Given the description of an element on the screen output the (x, y) to click on. 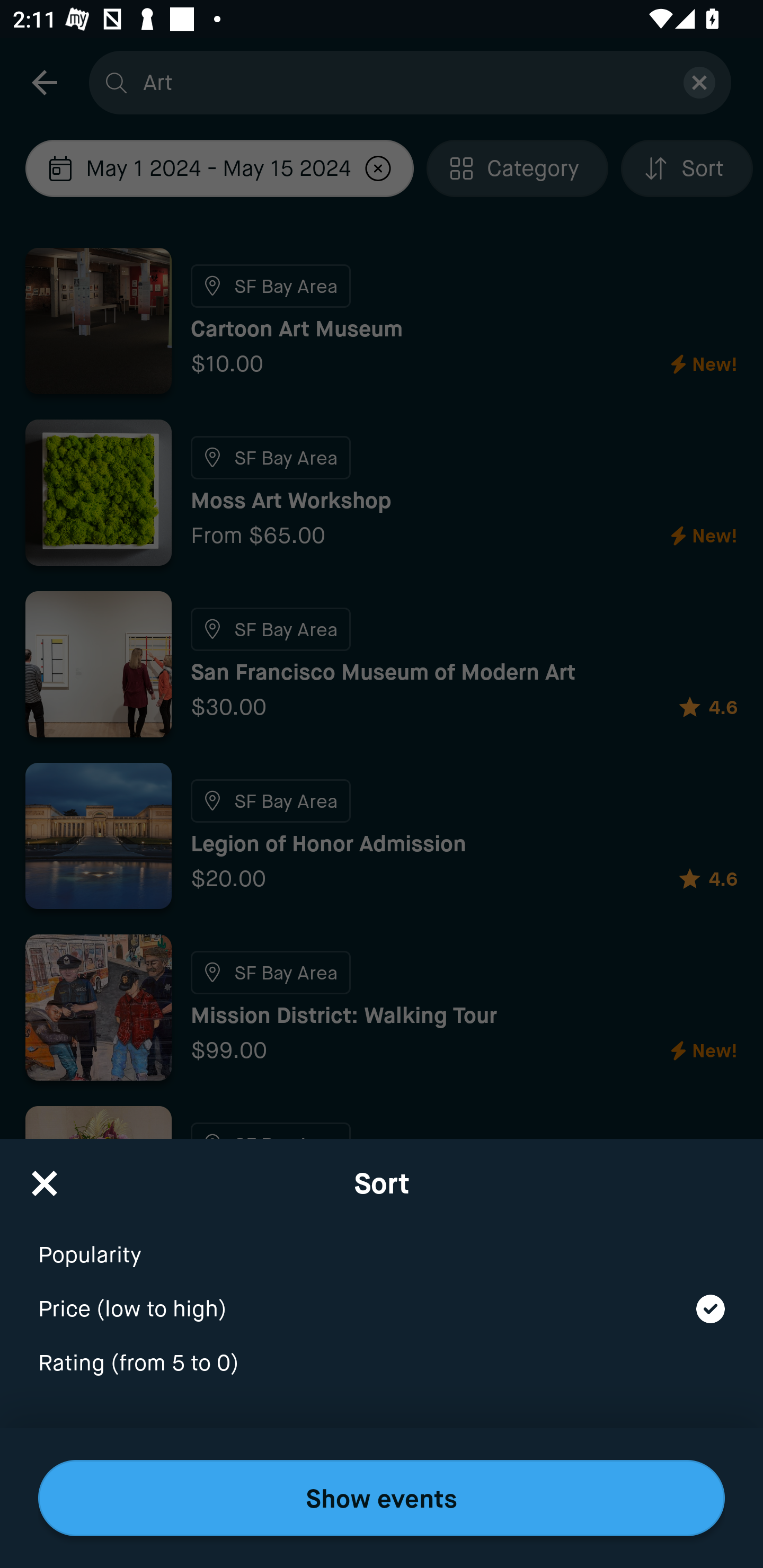
CloseButton (44, 1177)
Popularity (381, 1243)
Price (low to high) Selected Icon (381, 1297)
Rating (from 5 to 0) (381, 1362)
Show events (381, 1497)
